Given the description of an element on the screen output the (x, y) to click on. 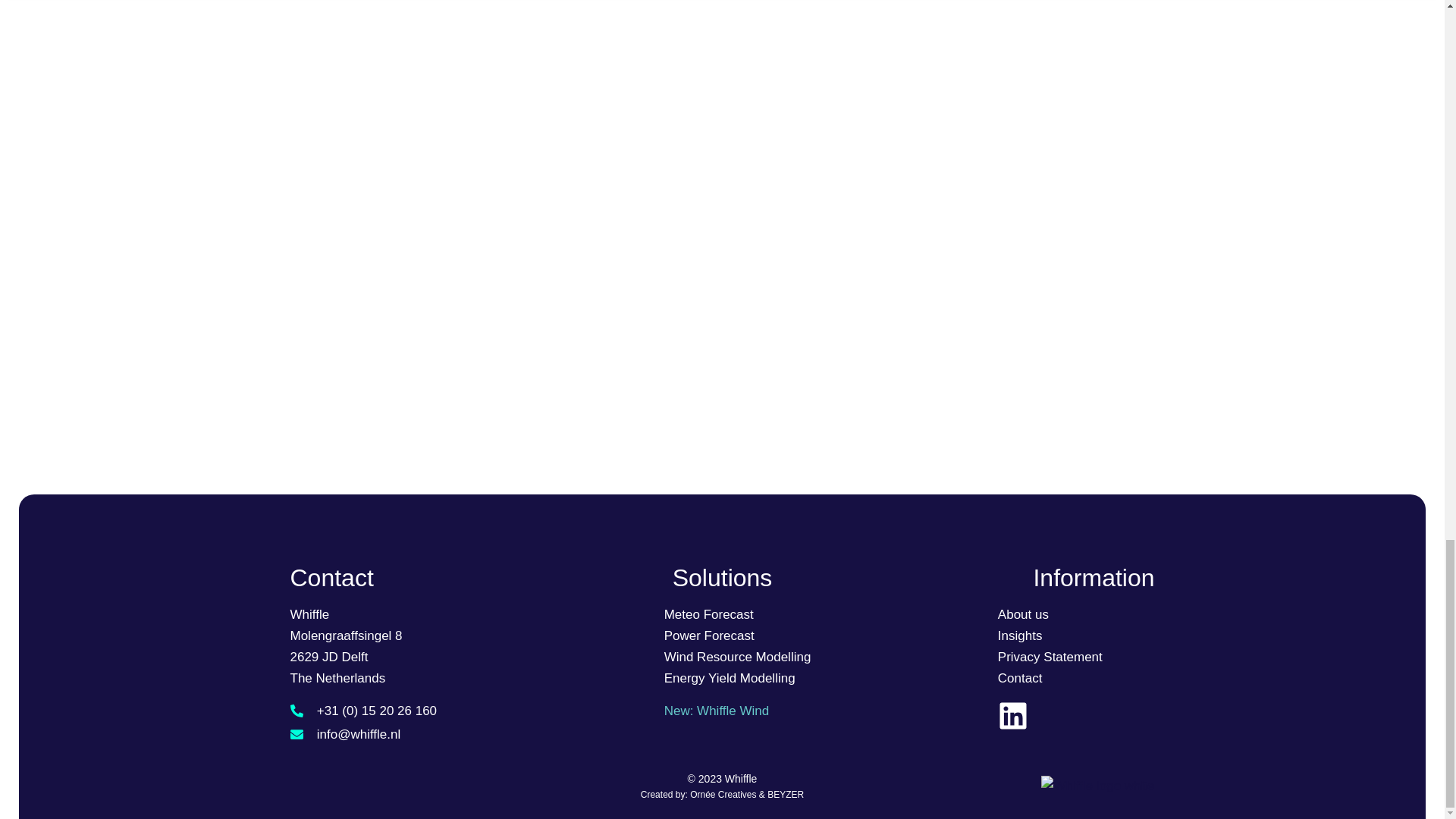
Meteo Forecast (708, 614)
Energy Yield Modelling (728, 677)
Insights (1019, 635)
Power Forecast (708, 635)
About us (1022, 614)
New: Whiffle Wind (716, 710)
Wind Resource Modelling (736, 657)
